Given the description of an element on the screen output the (x, y) to click on. 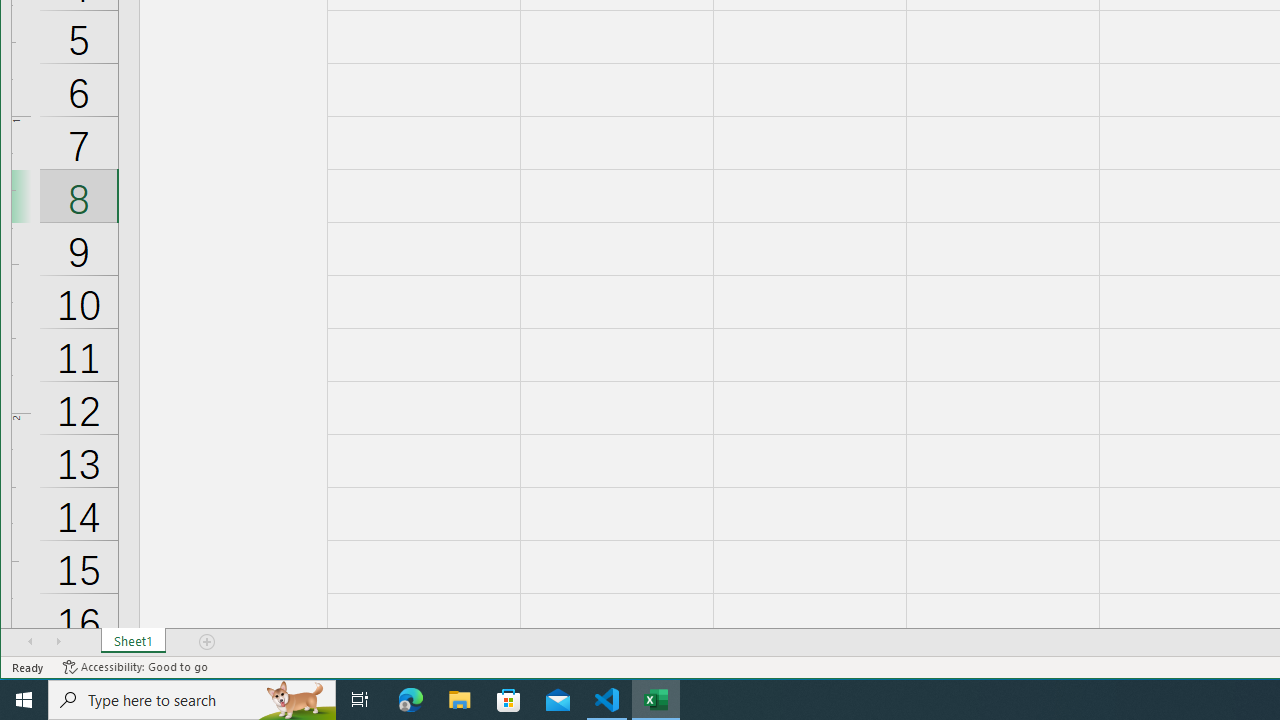
Search highlights icon opens search home window (295, 699)
File Explorer (460, 699)
Visual Studio Code - 1 running window (607, 699)
Task View (359, 699)
Microsoft Store (509, 699)
Start (24, 699)
Type here to search (191, 699)
Microsoft Edge (411, 699)
Excel - 1 running window (656, 699)
